Given the description of an element on the screen output the (x, y) to click on. 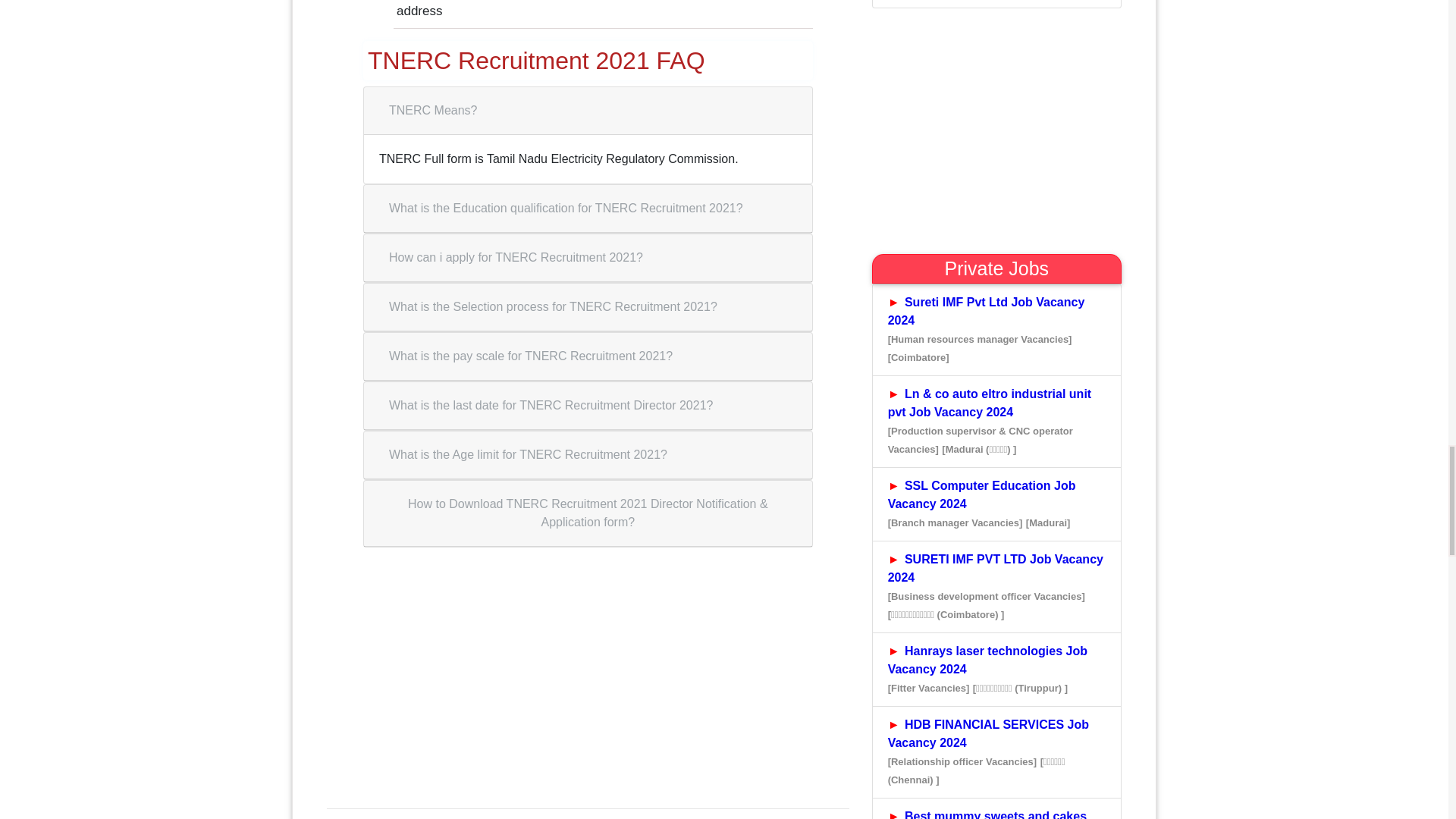
How can i apply for TNERC Recruitment 2021? (515, 257)
What is the Age limit for TNERC Recruitment 2021? (527, 454)
What is the Selection process for TNERC Recruitment 2021? (552, 306)
What is the pay scale for TNERC Recruitment 2021? (530, 356)
What is the last date for TNERC Recruitment Director 2021? (550, 405)
TNERC Means? (432, 110)
